Given the description of an element on the screen output the (x, y) to click on. 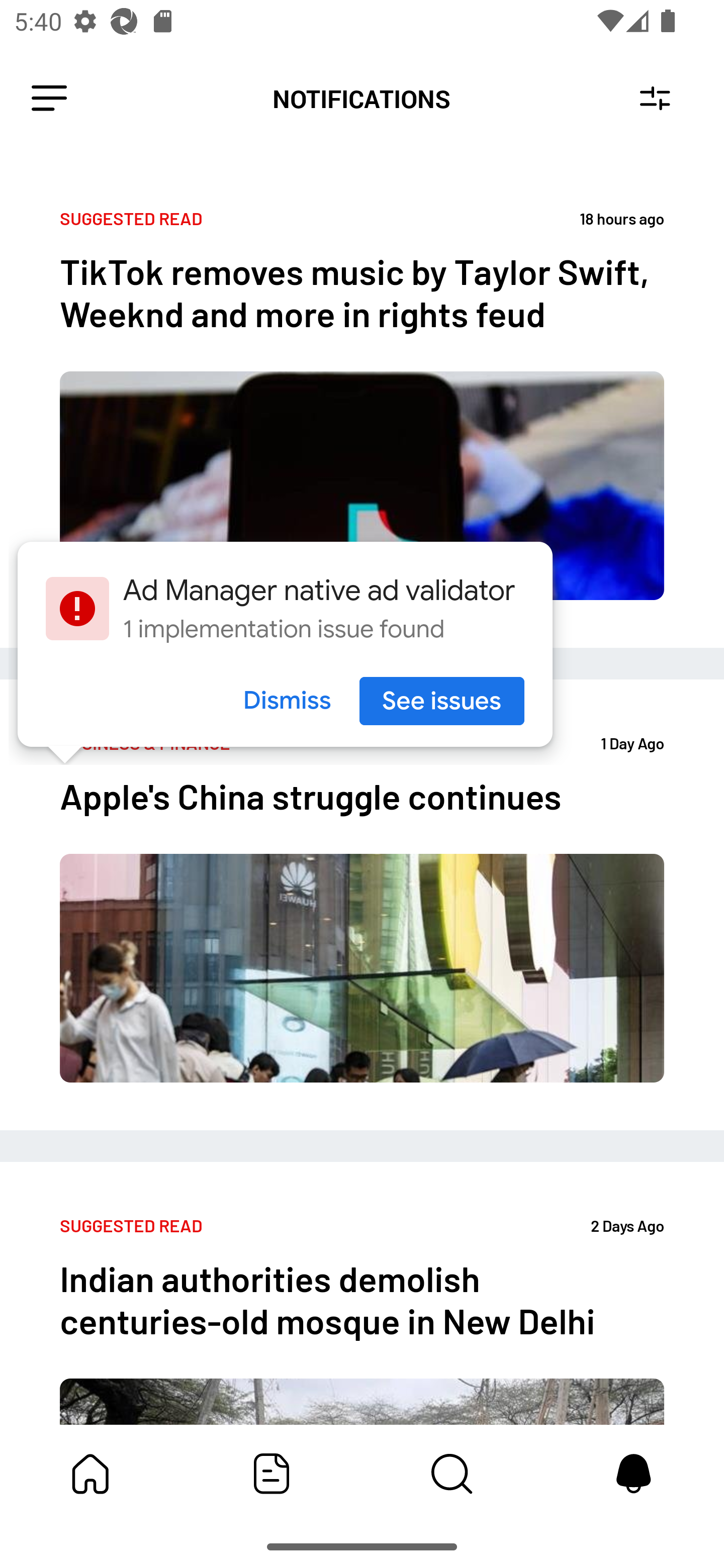
Leading Icon (49, 98)
Notification Settings (655, 98)
My Bundle (90, 1473)
Featured (271, 1473)
Content Store (452, 1473)
